Given the description of an element on the screen output the (x, y) to click on. 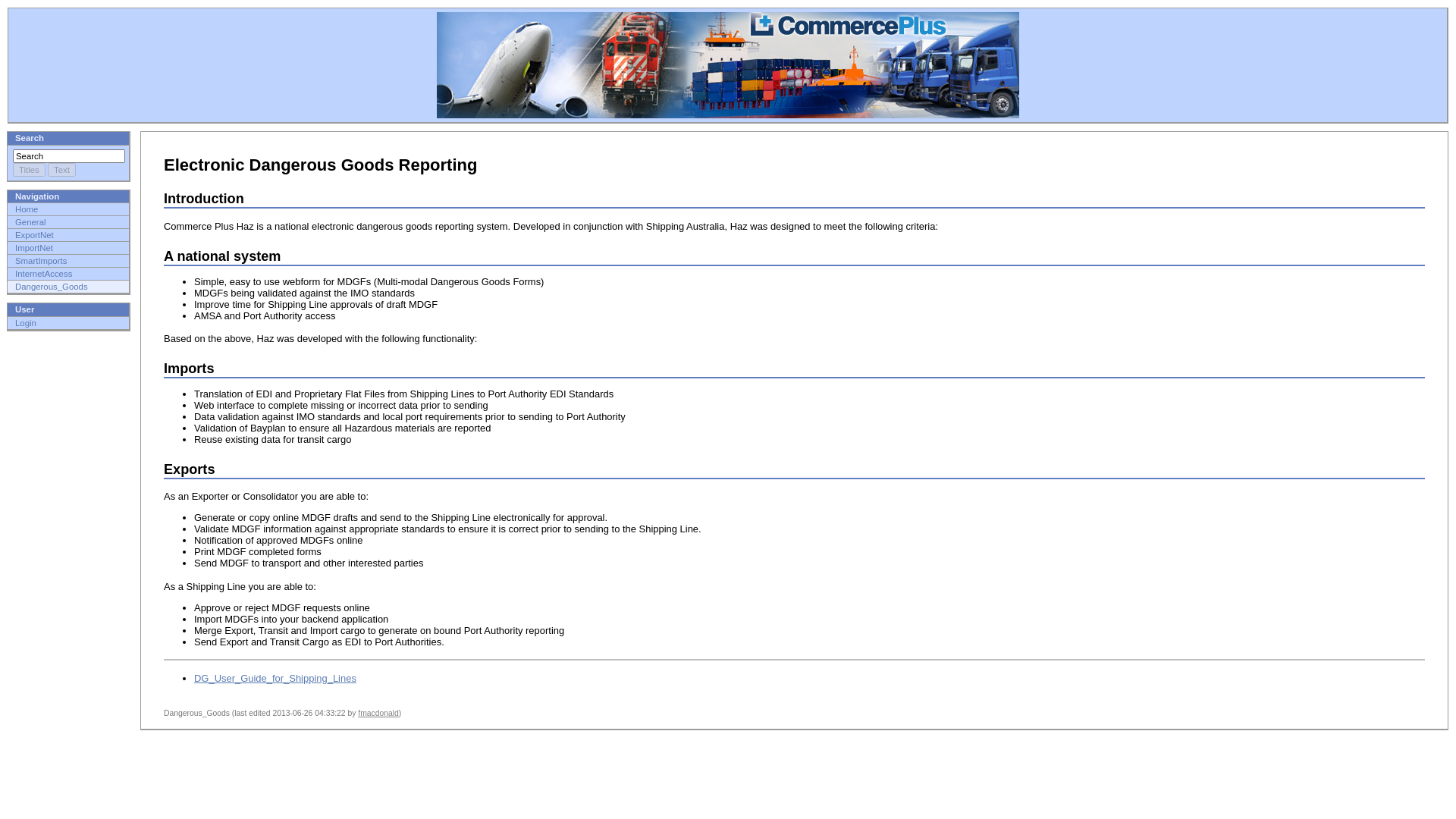
Login Element type: text (68, 322)
Text Element type: text (61, 169)
InternetAccess Element type: text (68, 273)
ImportNet Element type: text (68, 247)
ExportNet Element type: text (68, 234)
DG_User_Guide_for_Shipping_Lines Element type: text (275, 678)
General Element type: text (68, 221)
Home Element type: text (68, 208)
fmacdonald Element type: text (377, 713)
Titles Element type: text (28, 169)
SmartImports Element type: text (68, 260)
Dangerous_Goods Element type: text (68, 286)
